Given the description of an element on the screen output the (x, y) to click on. 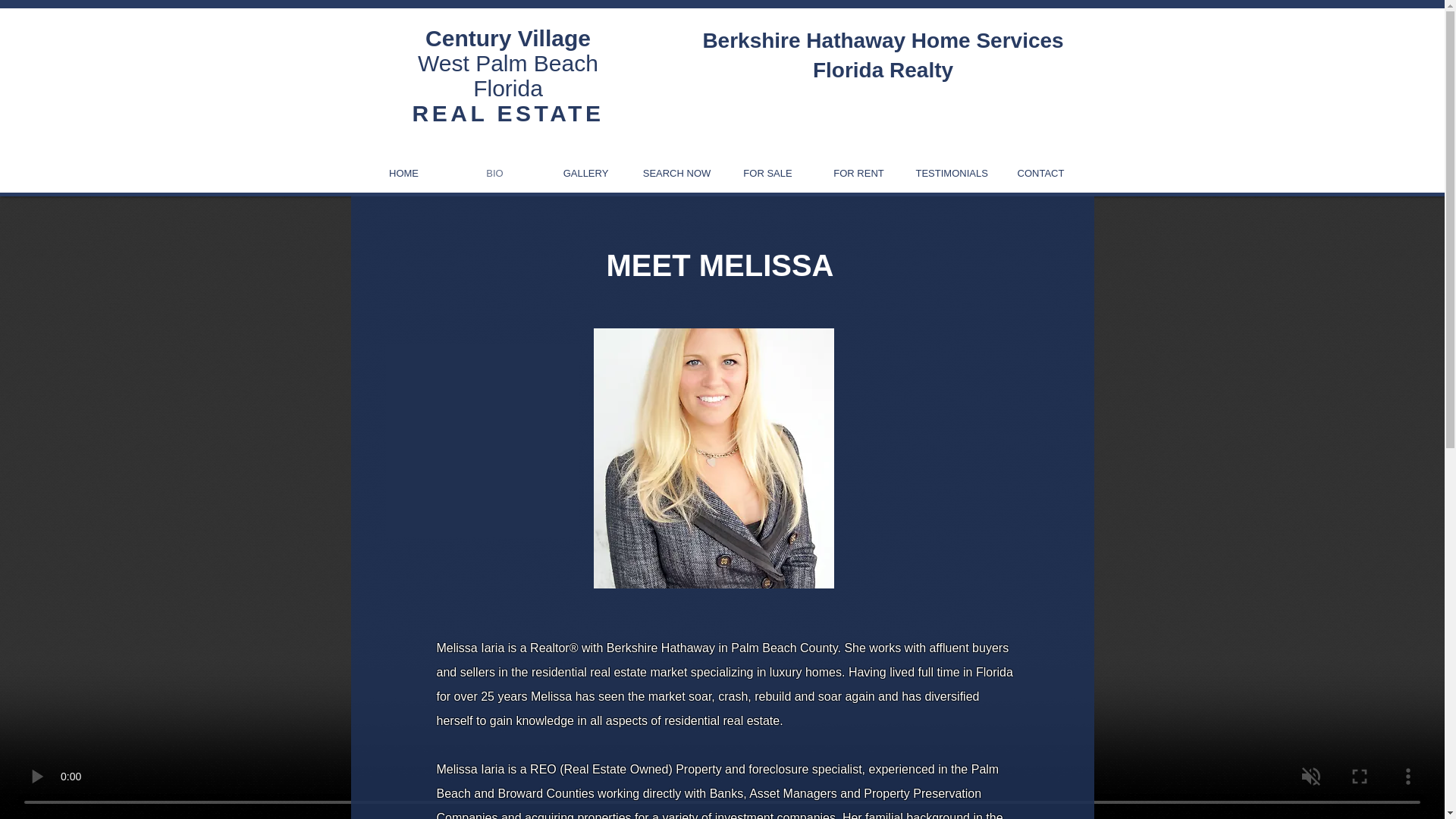
BIO (507, 62)
CONTACT (494, 173)
TESTIMONIALS (1040, 173)
SEARCH NOW (949, 173)
HOME (676, 173)
FOR RENT (403, 173)
GALLERY (858, 173)
FOR SALE (585, 173)
REAL ESTATE (767, 173)
